Given the description of an element on the screen output the (x, y) to click on. 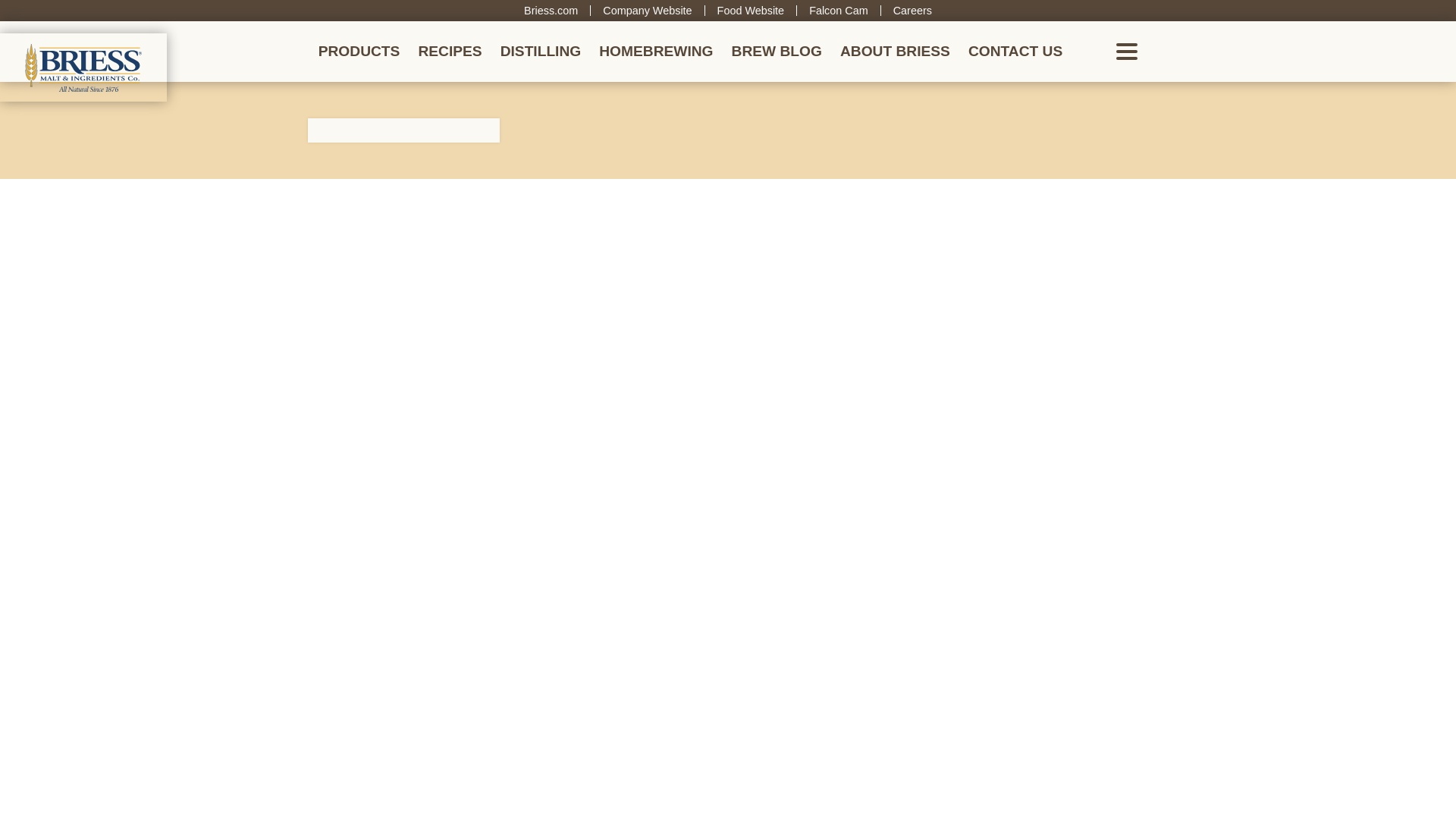
CONTACT US (1015, 51)
PRODUCTS (358, 51)
Company Website (646, 10)
BREW BLOG (776, 51)
ABOUT BRIESS (895, 51)
Careers (912, 10)
HOMEBREWING (655, 51)
Food Website (750, 10)
Briess.com (551, 10)
Falcon Cam (838, 10)
